Given the description of an element on the screen output the (x, y) to click on. 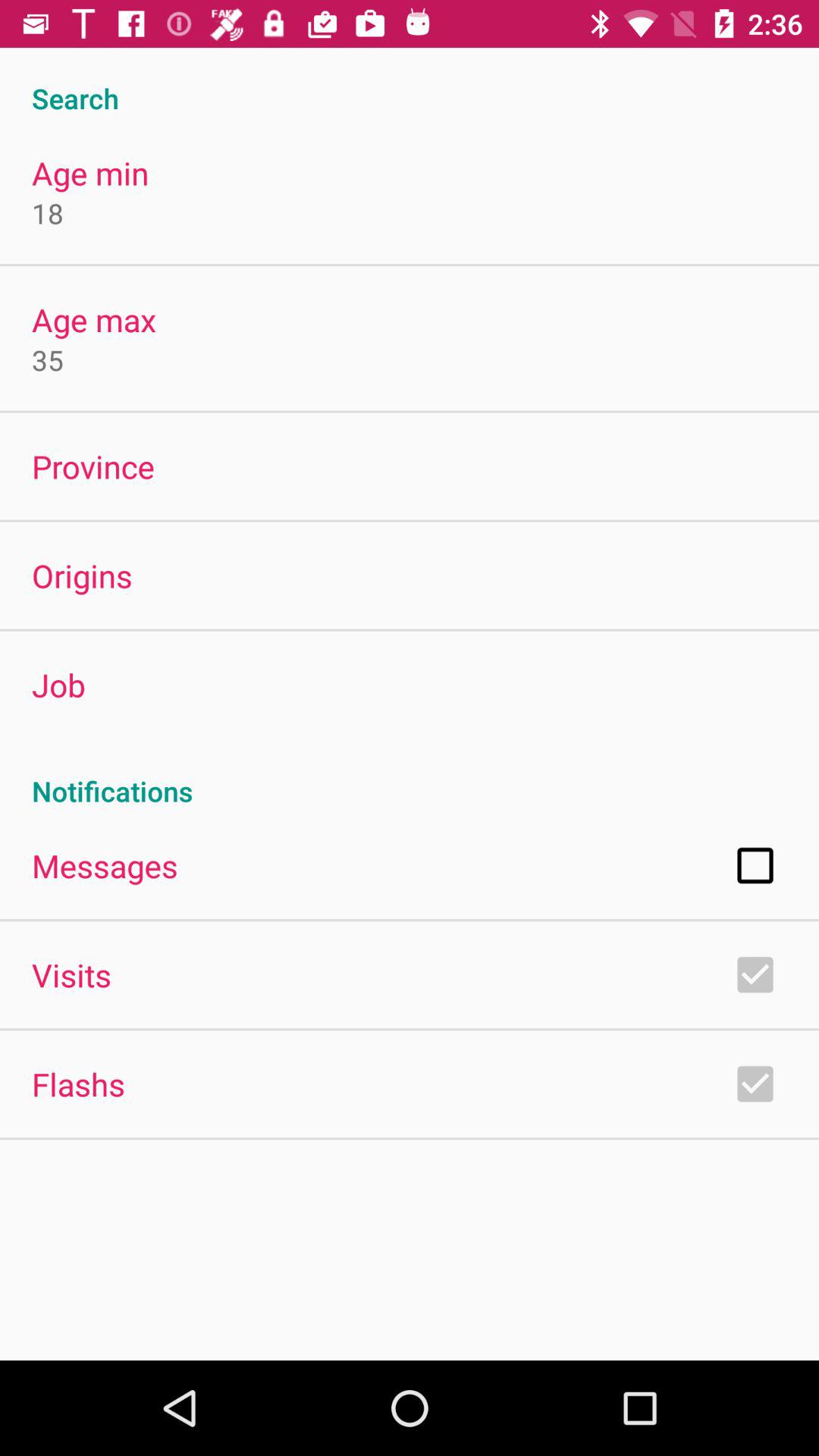
press the search app (409, 82)
